Given the description of an element on the screen output the (x, y) to click on. 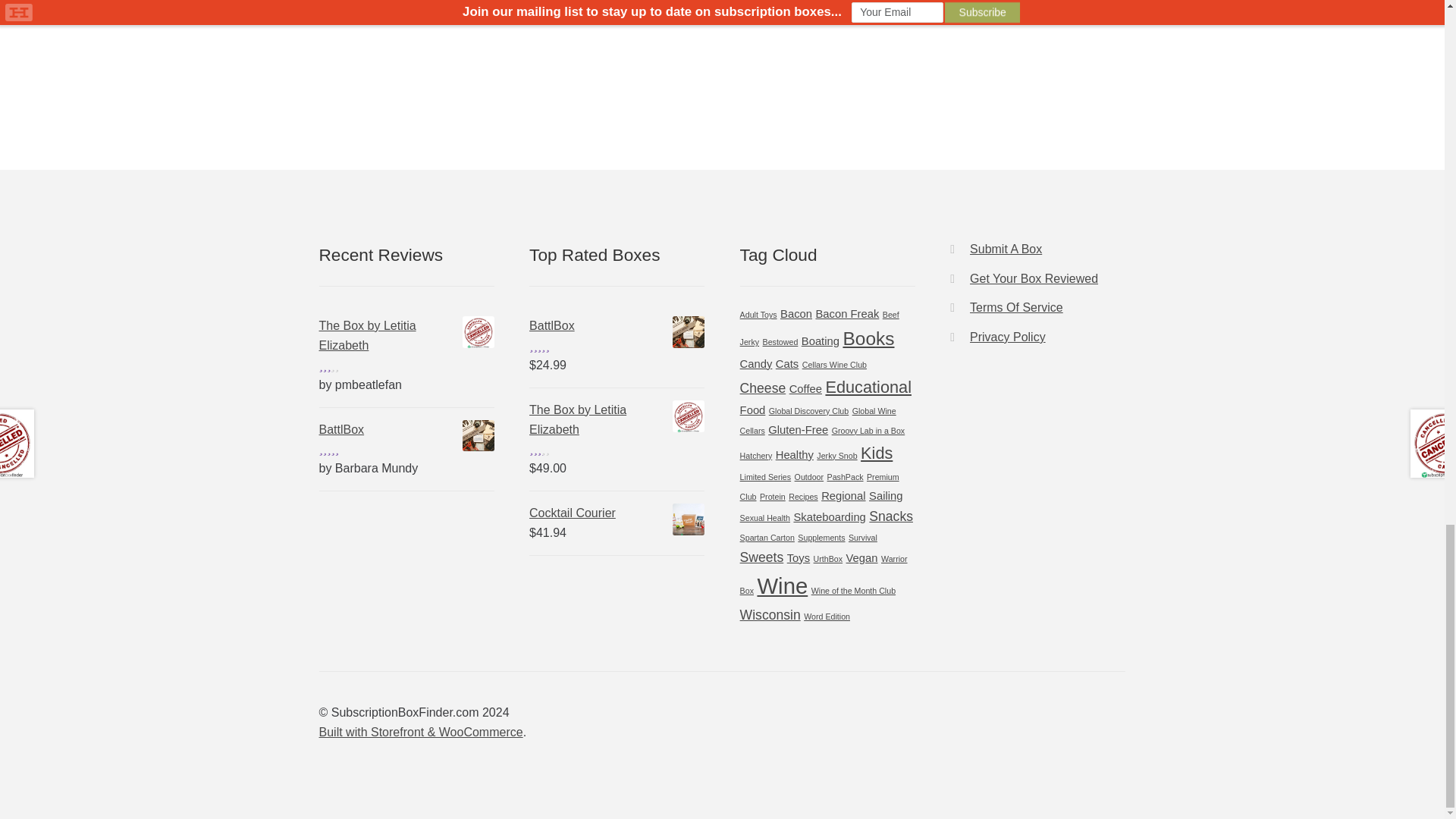
WooCommerce - The Best eCommerce Platform for WordPress (420, 731)
Advertisement (406, 47)
